Given the description of an element on the screen output the (x, y) to click on. 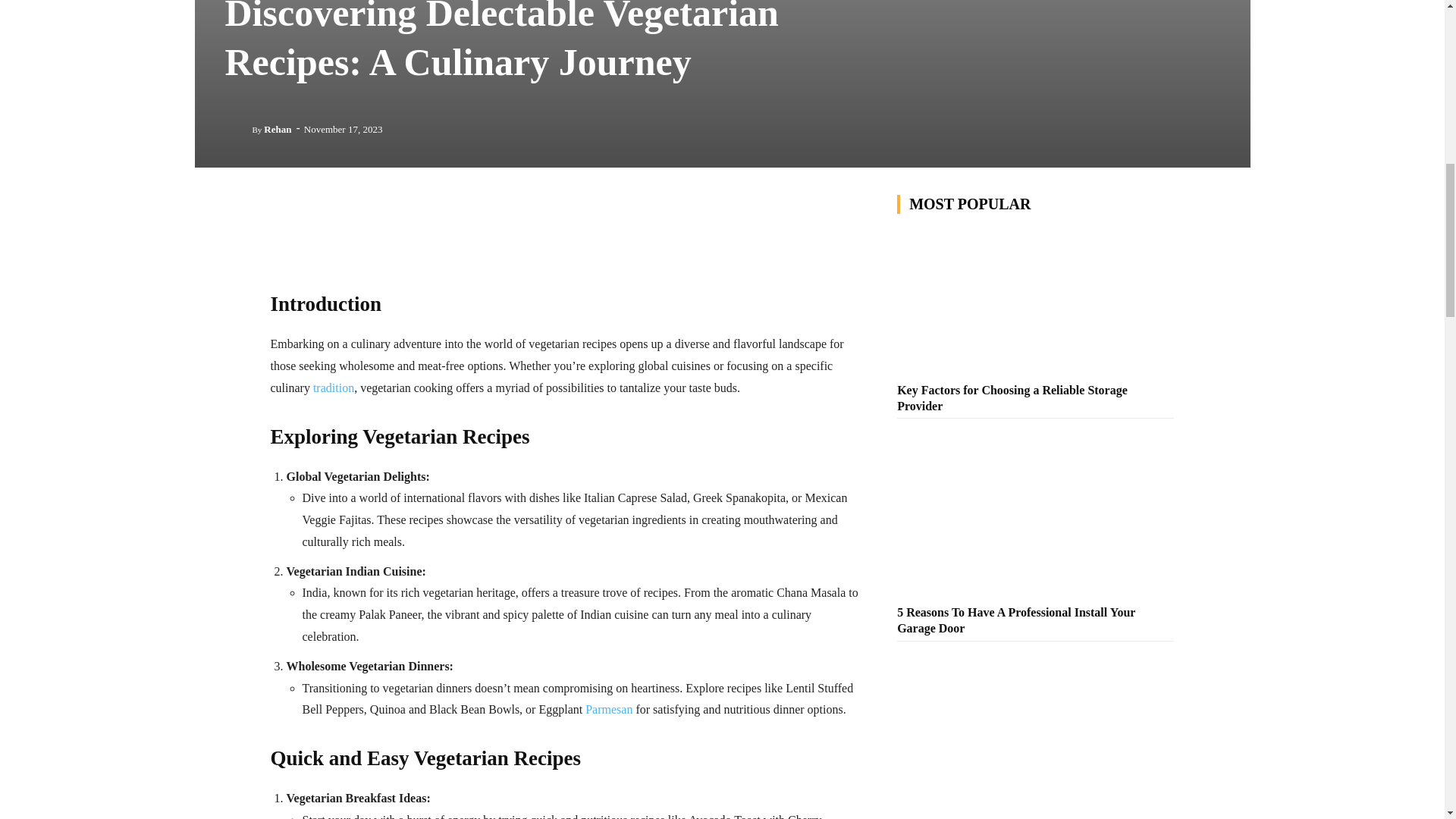
Key Factors for Choosing a Reliable Storage Provider (1011, 398)
5 Reasons To Have A Professional Install Your Garage Door (1015, 620)
Parmesan (608, 708)
Key Factors for Choosing a Reliable Storage Provider (1034, 303)
tradition (333, 387)
Rehan (237, 128)
Rehan (277, 128)
5 Reasons To Have A Professional Install Your Garage Door (1034, 525)
